Given the description of an element on the screen output the (x, y) to click on. 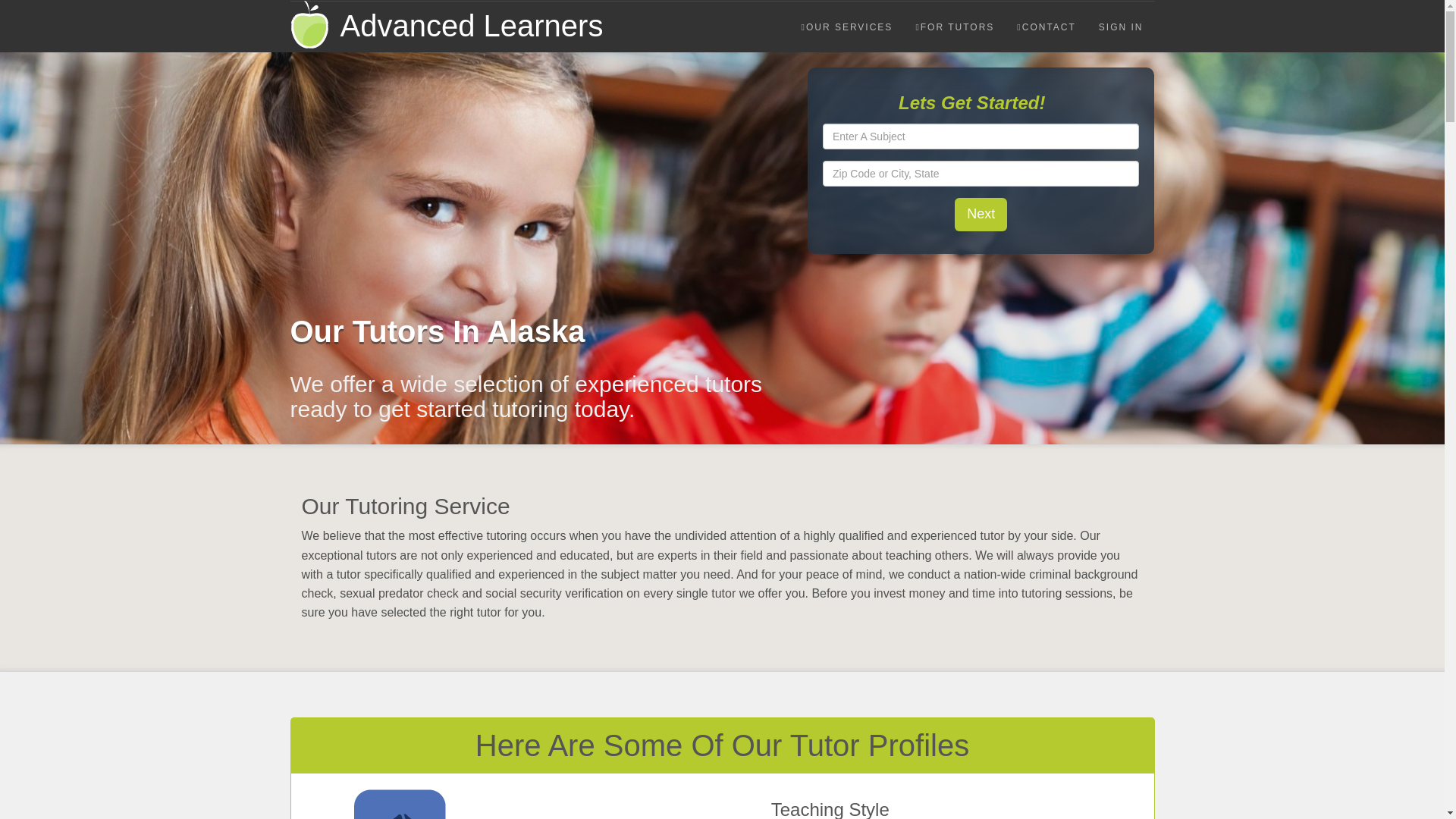
Our Tutoring Service (721, 505)
Our  Tutors In Alaska (536, 331)
CONTACT (1046, 26)
SIGN IN (1120, 26)
FOR TUTORS (955, 26)
OUR SERVICES (847, 26)
